Given the description of an element on the screen output the (x, y) to click on. 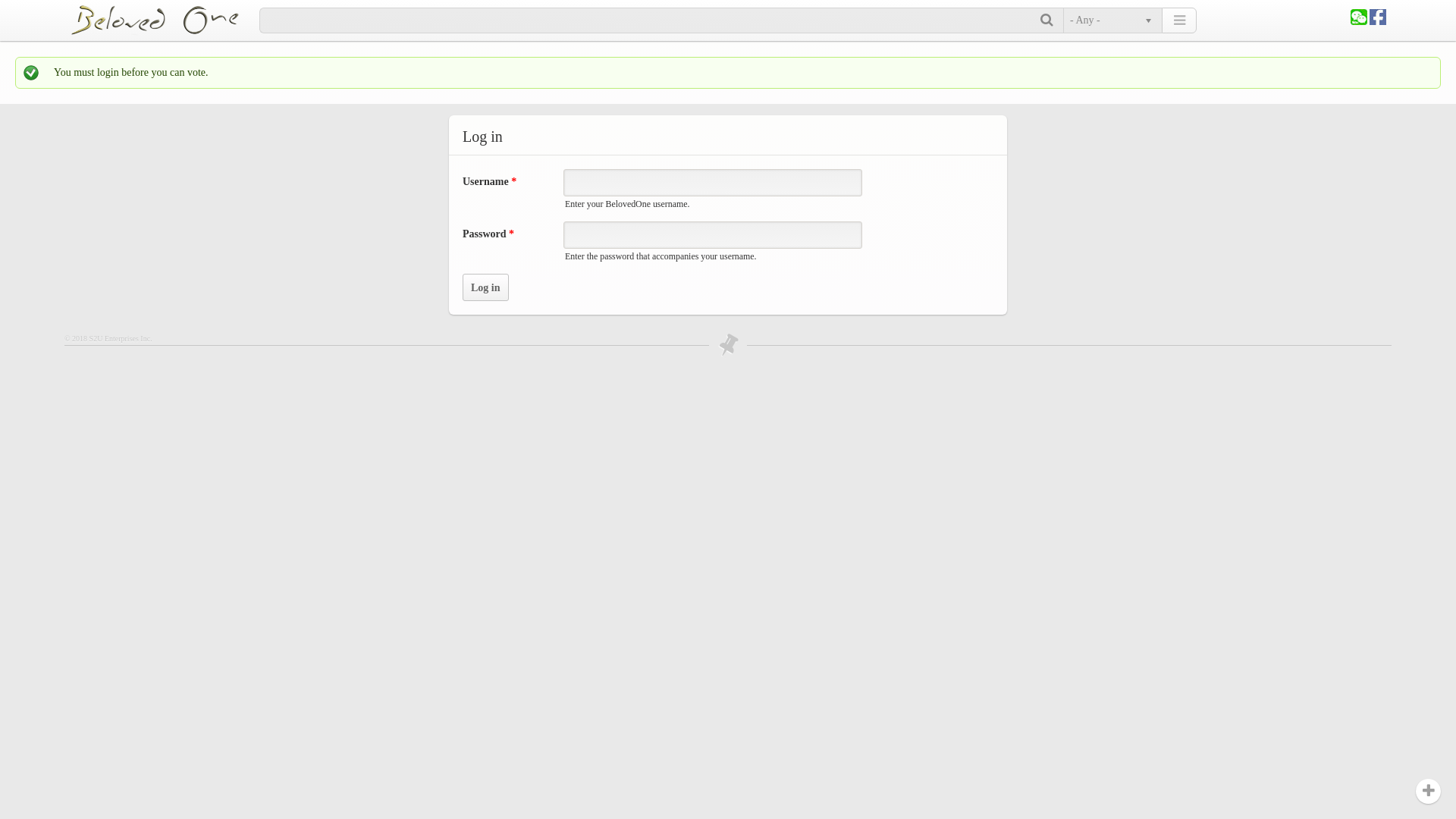
- Any - Element type: text (1110, 20)
Skip to main content Element type: text (43, 0)
Log in Element type: text (485, 287)
Enter the terms you wish to search for. Element type: hover (649, 20)
BelovedOne Element type: hover (164, 19)
Search Element type: text (1047, 20)
